Given the description of an element on the screen output the (x, y) to click on. 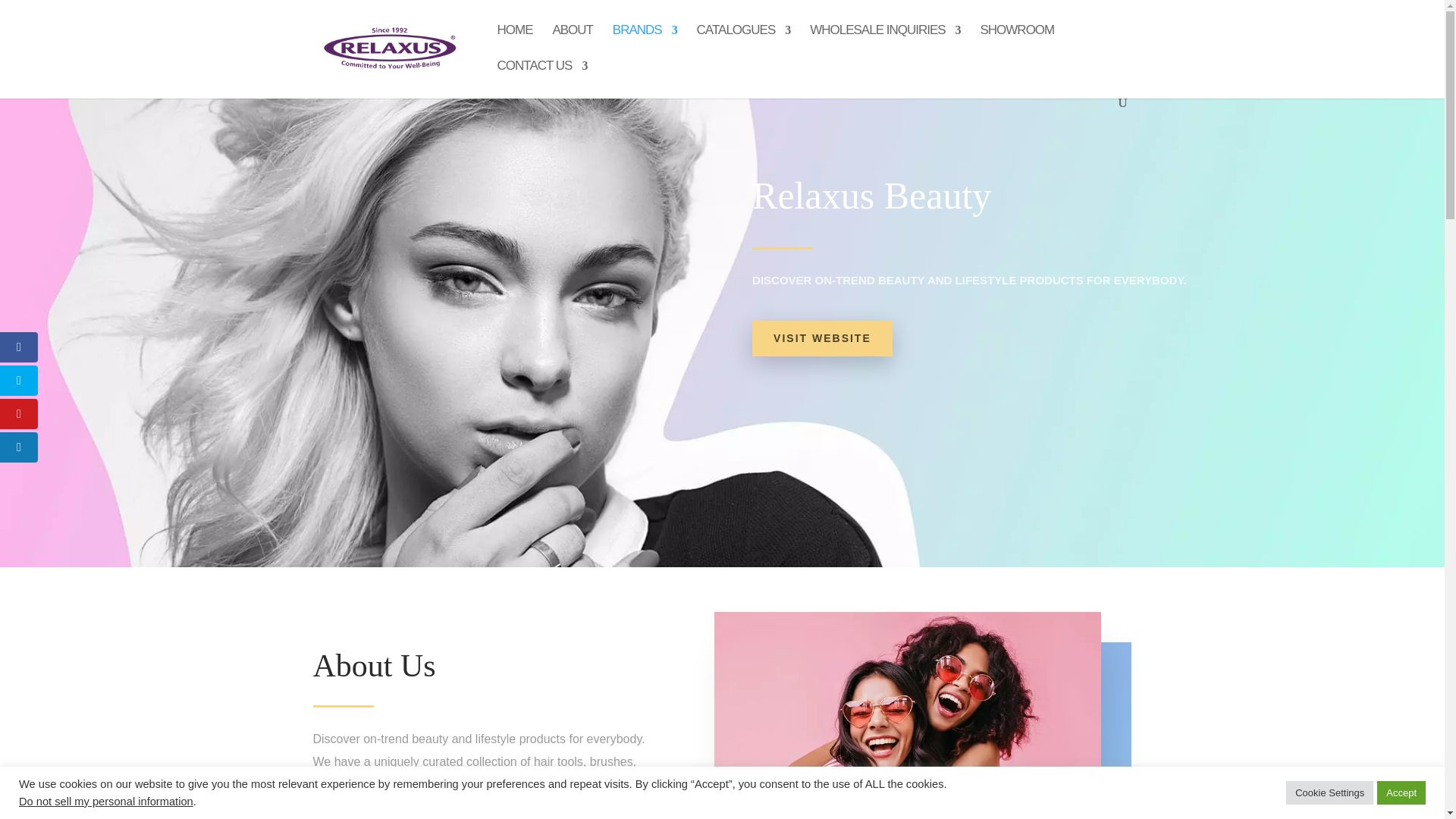
HOME (514, 42)
CATALOGUES (743, 42)
SHOWROOM (1016, 42)
CONTACT US (542, 78)
BRANDS (644, 42)
VISIT WEBSITE (822, 339)
Relaxus Beauty Products (907, 715)
ABOUT (571, 42)
WHOLESALE INQUIRIES (884, 42)
